Given the description of an element on the screen output the (x, y) to click on. 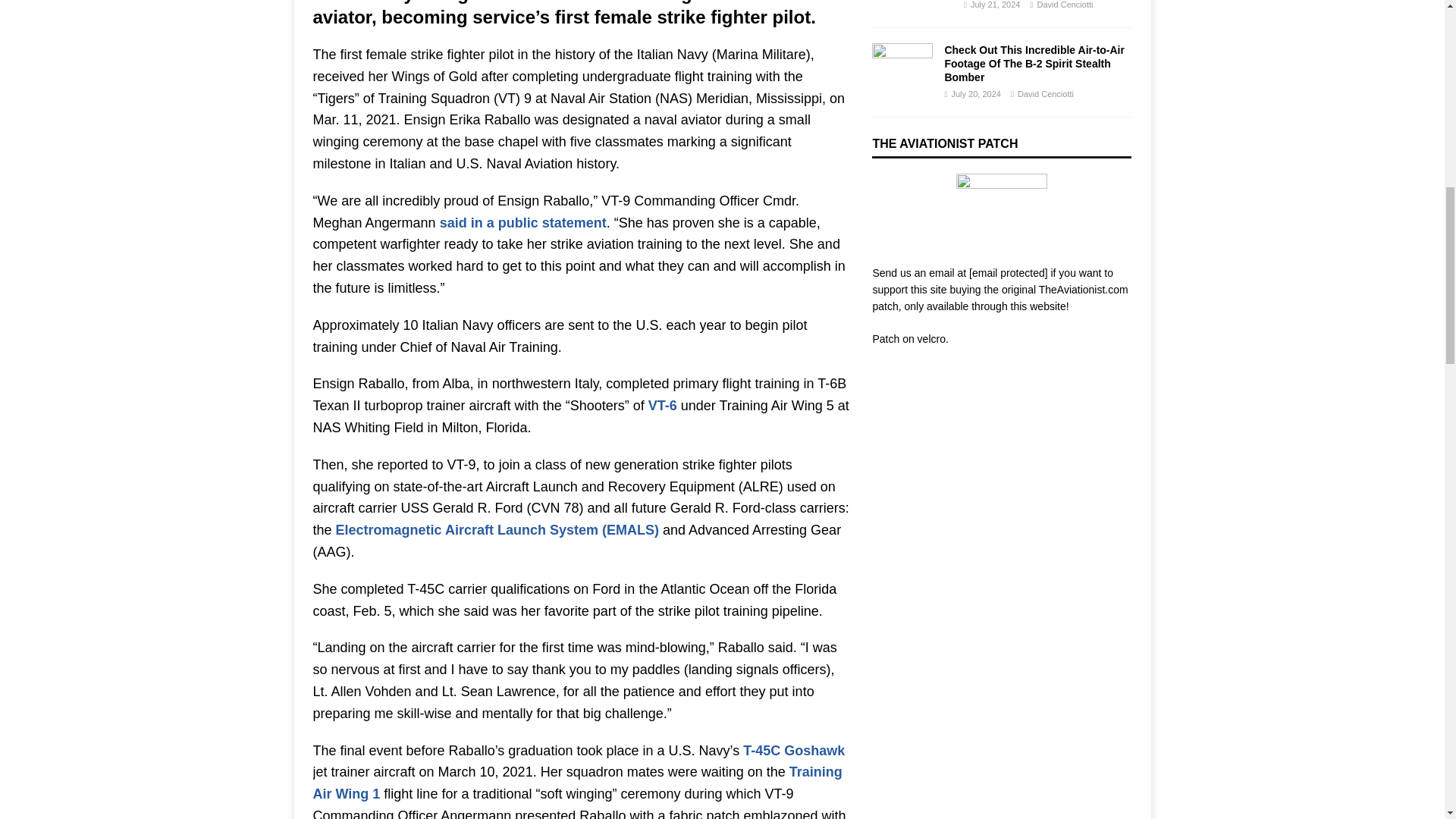
T-45C Goshawk (793, 750)
VT-6 (662, 405)
said in a public statement (523, 222)
Training Air Wing 1 (577, 782)
